Given the description of an element on the screen output the (x, y) to click on. 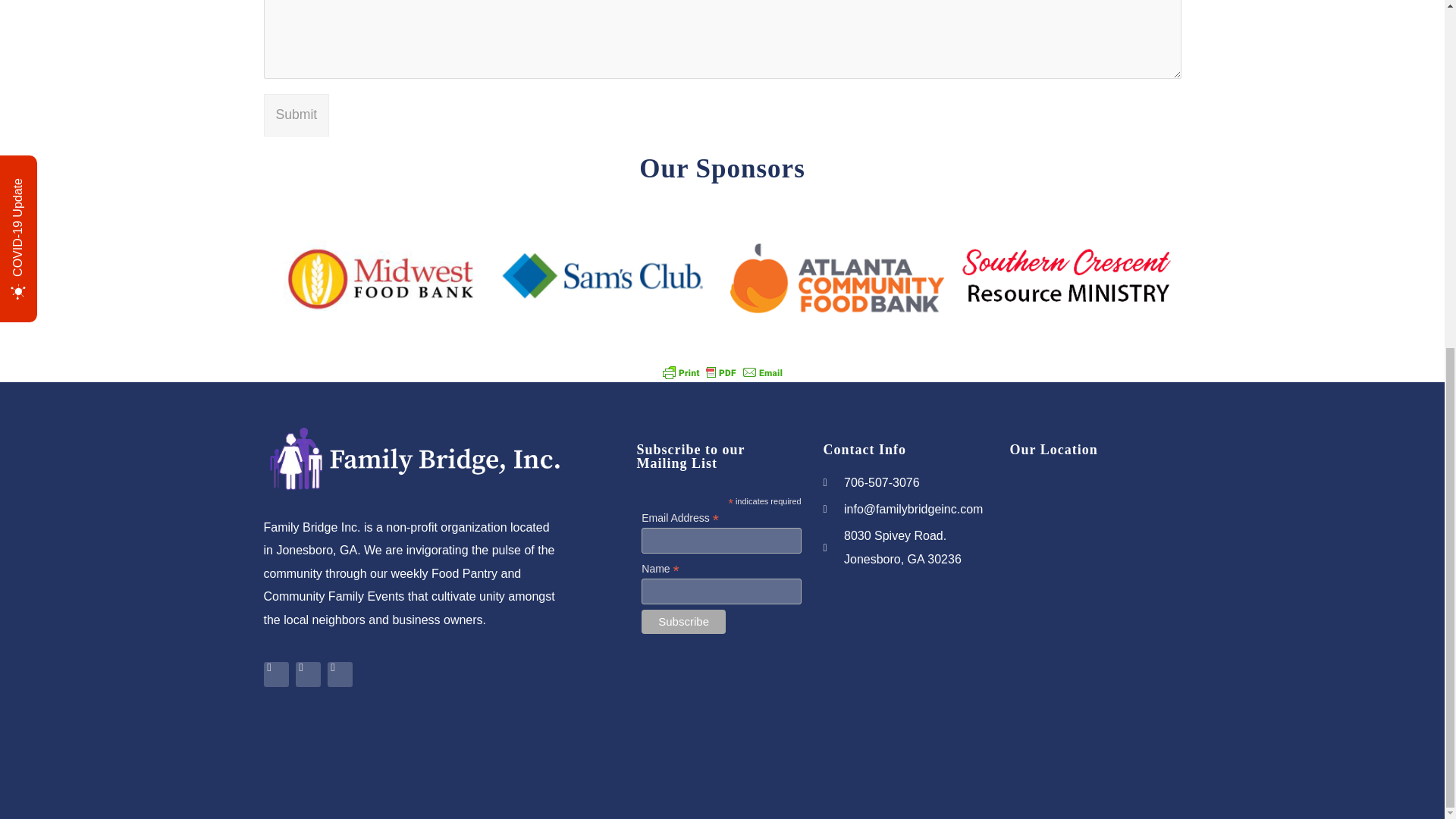
Submit (296, 114)
Subscribe (683, 621)
Subscribe (683, 621)
